Given the description of an element on the screen output the (x, y) to click on. 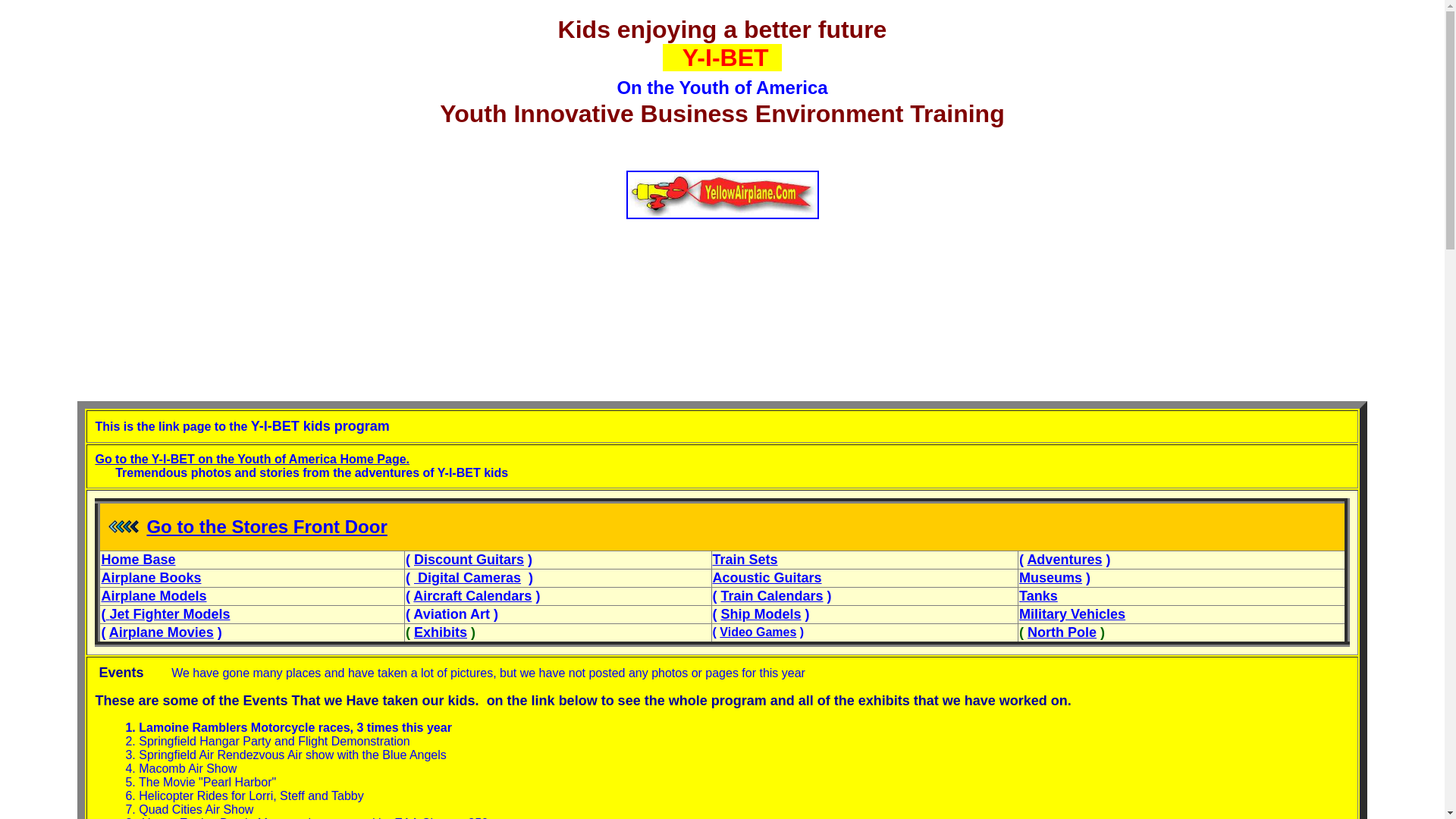
Home Base (137, 559)
Military Vehicles (1072, 613)
Train Sets (745, 559)
Airplane Movies (161, 631)
Acoustic Guitars (767, 577)
Aircraft Calendars (472, 595)
Discount Guitars (468, 559)
Train Calendars (772, 595)
Video Games (757, 631)
Adventures (1064, 559)
Tanks (1038, 595)
Advertisement (721, 351)
Go to the Stores Front Door (267, 526)
North Pole (1061, 631)
Museums (1050, 577)
